Given the description of an element on the screen output the (x, y) to click on. 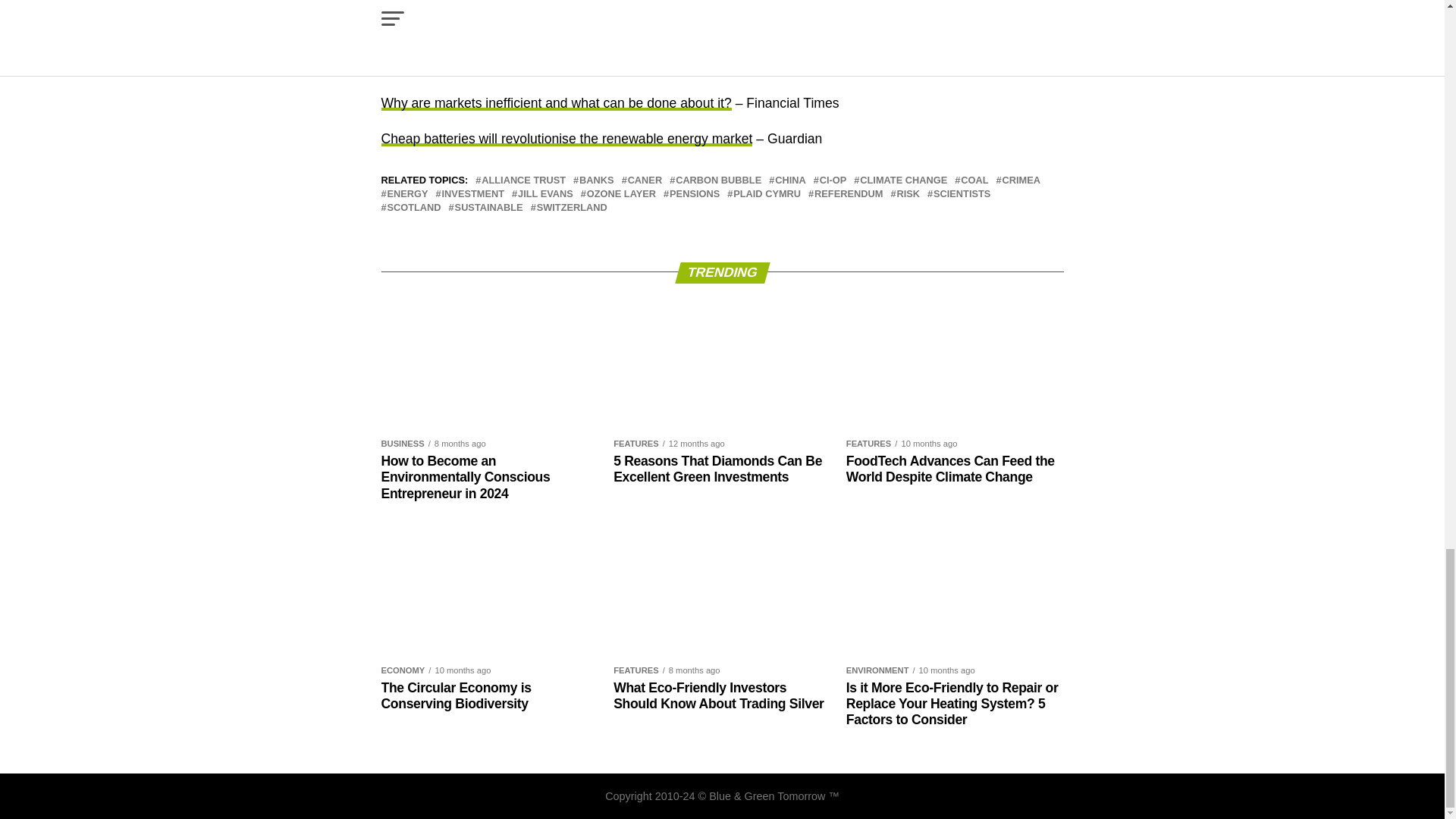
COAL (974, 180)
REFERENDUM (847, 194)
ALLIANCE TRUST (523, 180)
Why are markets inefficient and what can be done about it? (555, 102)
CANER (644, 180)
SCOTLAND (414, 207)
SWITZERLAND (572, 207)
OZONE LAYER (621, 194)
INVESTMENT (472, 194)
